Given the description of an element on the screen output the (x, y) to click on. 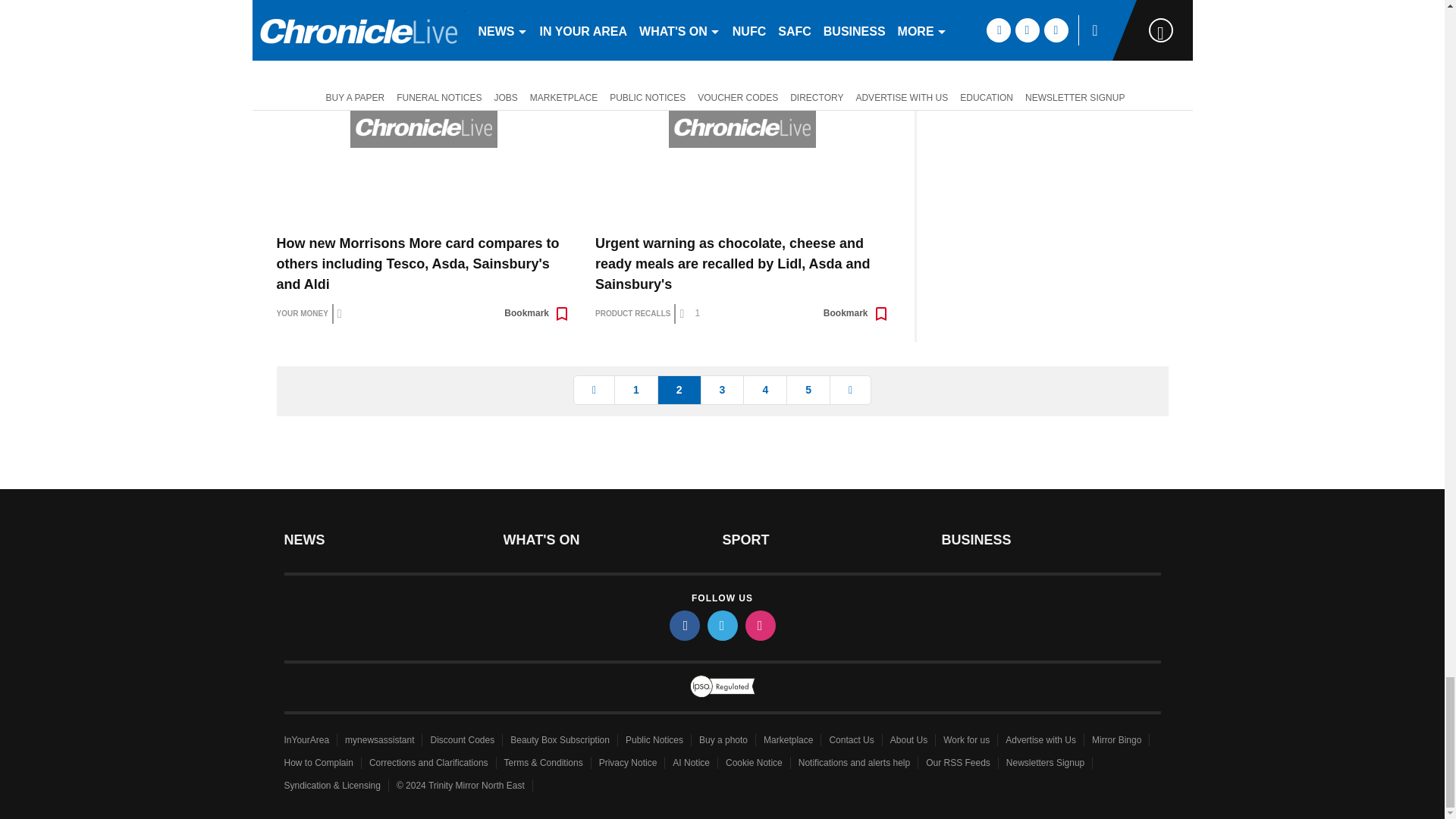
facebook (683, 625)
twitter (721, 625)
instagram (759, 625)
